Given the description of an element on the screen output the (x, y) to click on. 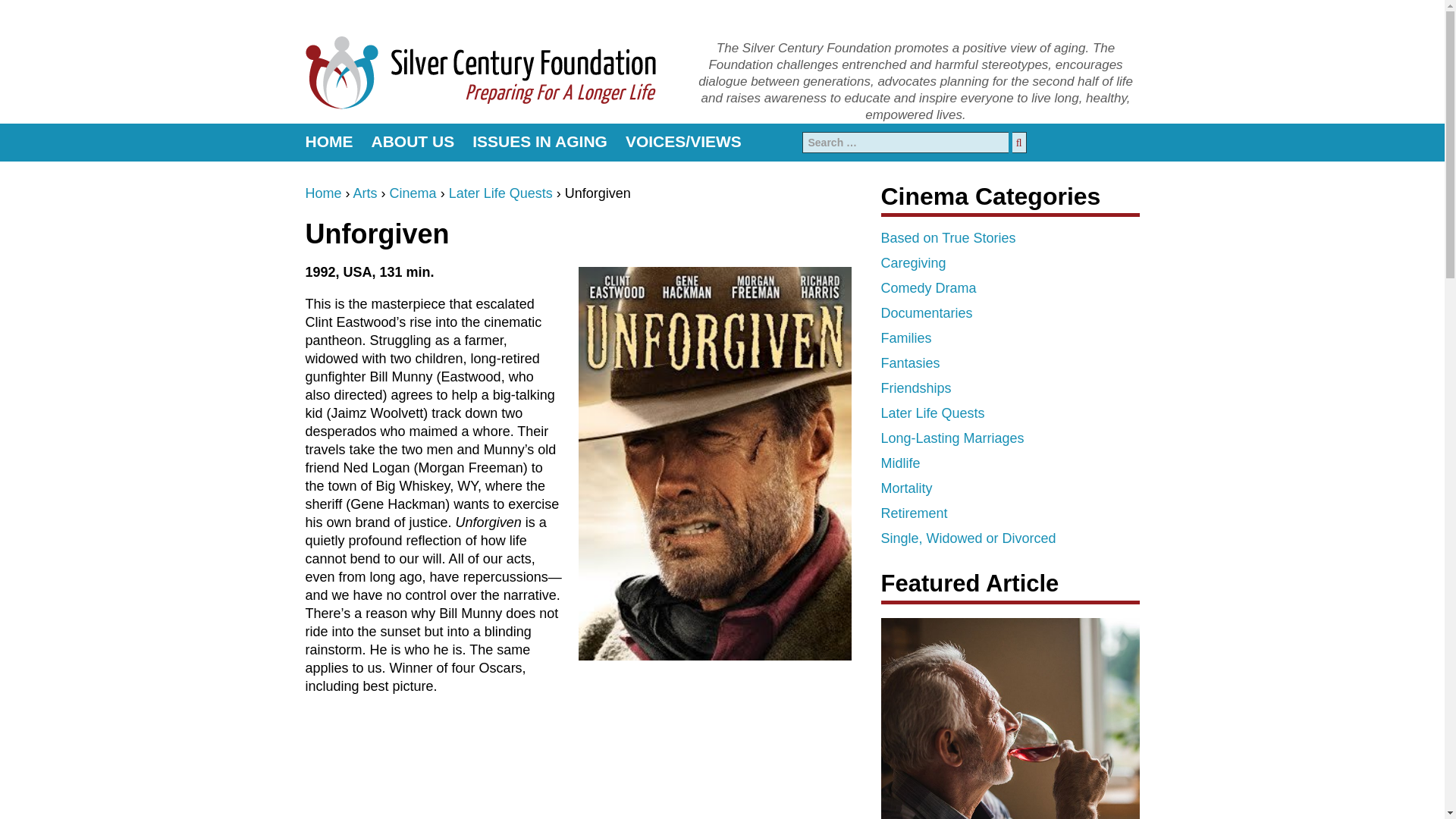
Arts (365, 192)
Cinema (413, 192)
FACEBOOK (1076, 142)
ABOUT US (413, 141)
Home (322, 192)
Silver Century Foundation (479, 70)
TWITTER (1128, 142)
ISSUES IN AGING (539, 141)
PINTEREST (1101, 142)
Later Life Quests (500, 192)
HOME (332, 141)
